Given the description of an element on the screen output the (x, y) to click on. 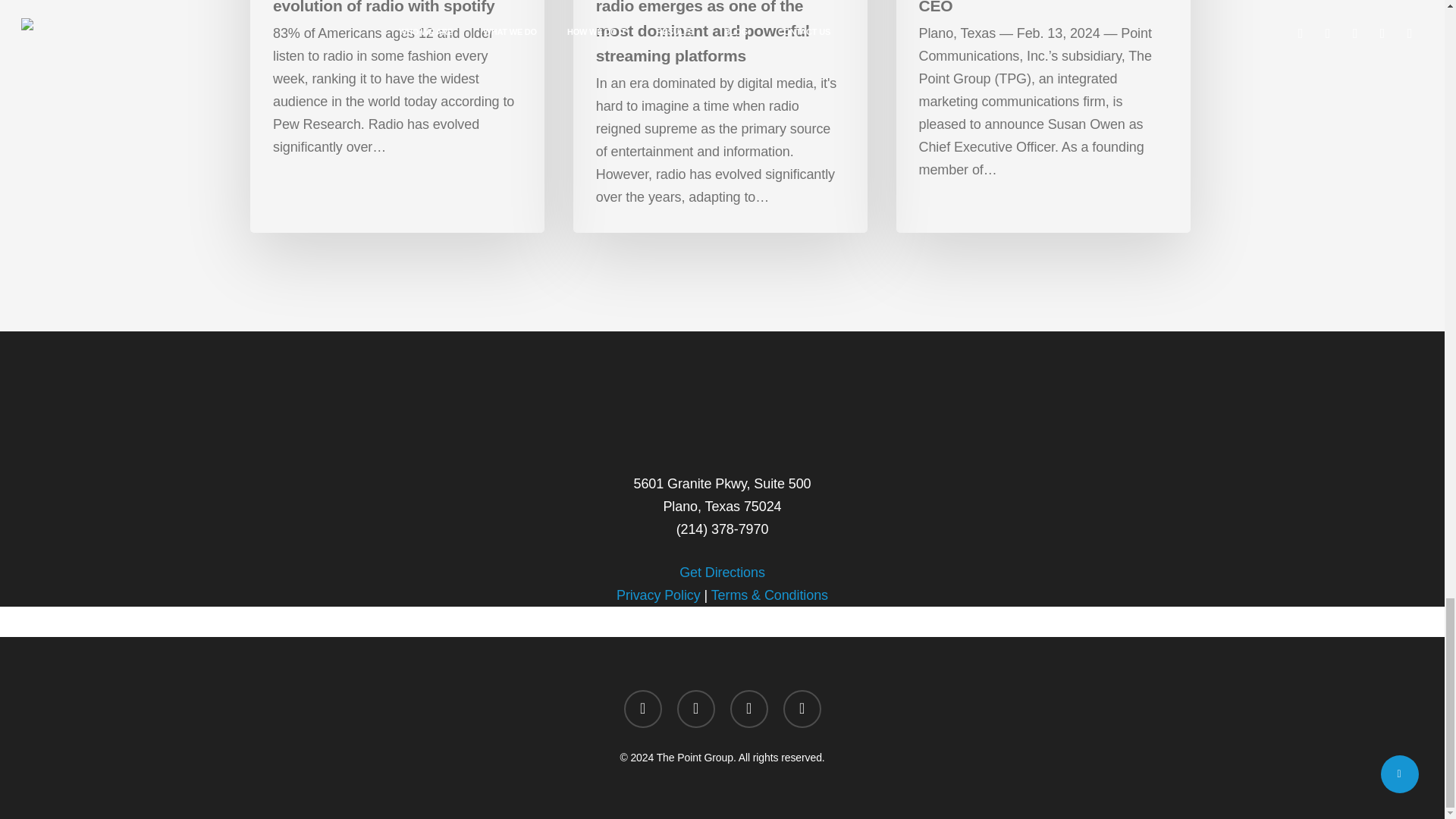
Get Directions (722, 572)
